Given the description of an element on the screen output the (x, y) to click on. 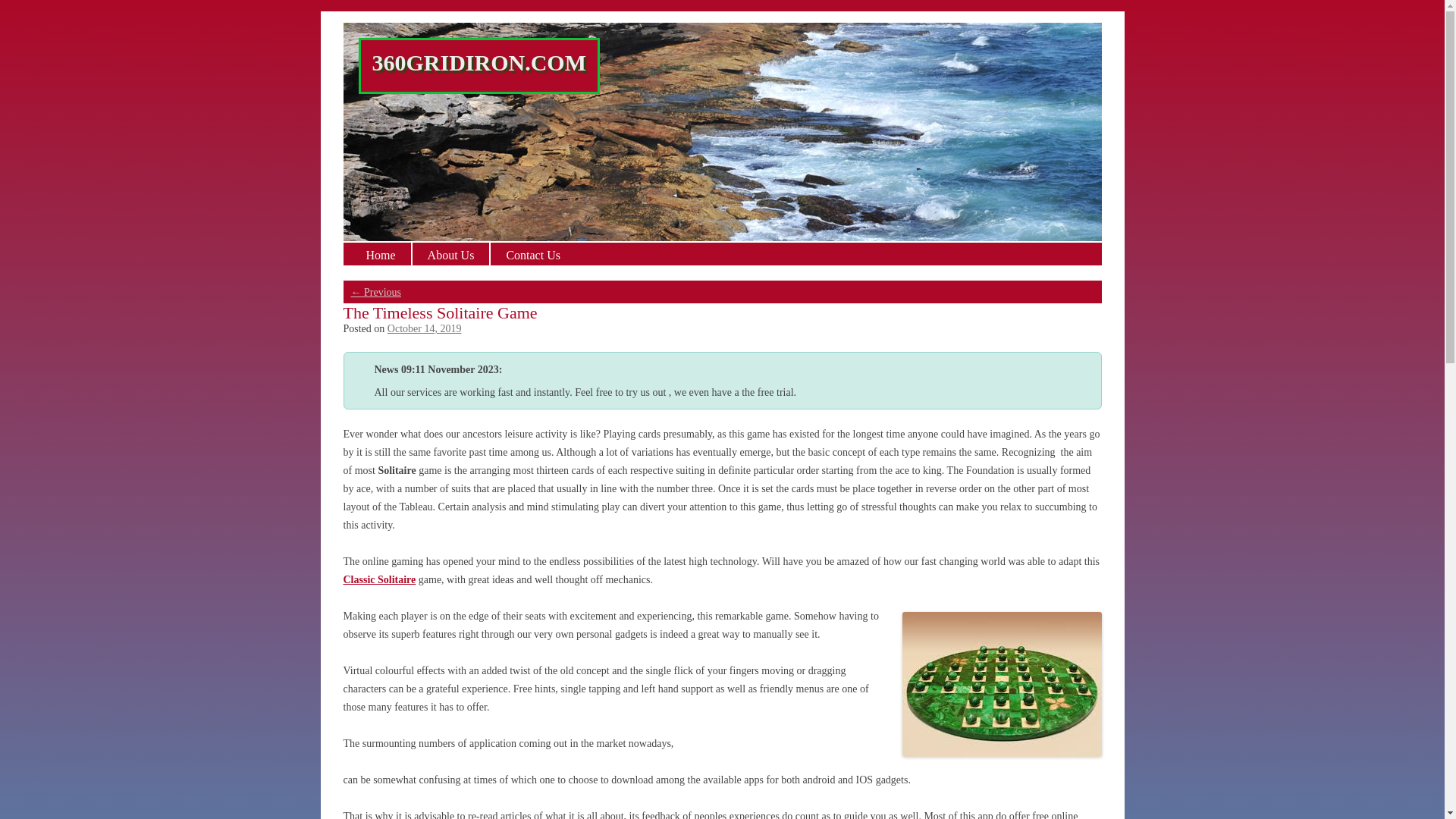
Classic Solitaire Element type: text (378, 578)
360GRIDIRON.COM Element type: text (478, 62)
Skip to primary content Element type: text (50, 16)
About Us Element type: text (450, 253)
Contact Us Element type: text (532, 253)
October 14, 2019 Element type: text (424, 327)
Home Element type: text (380, 253)
